Given the description of an element on the screen output the (x, y) to click on. 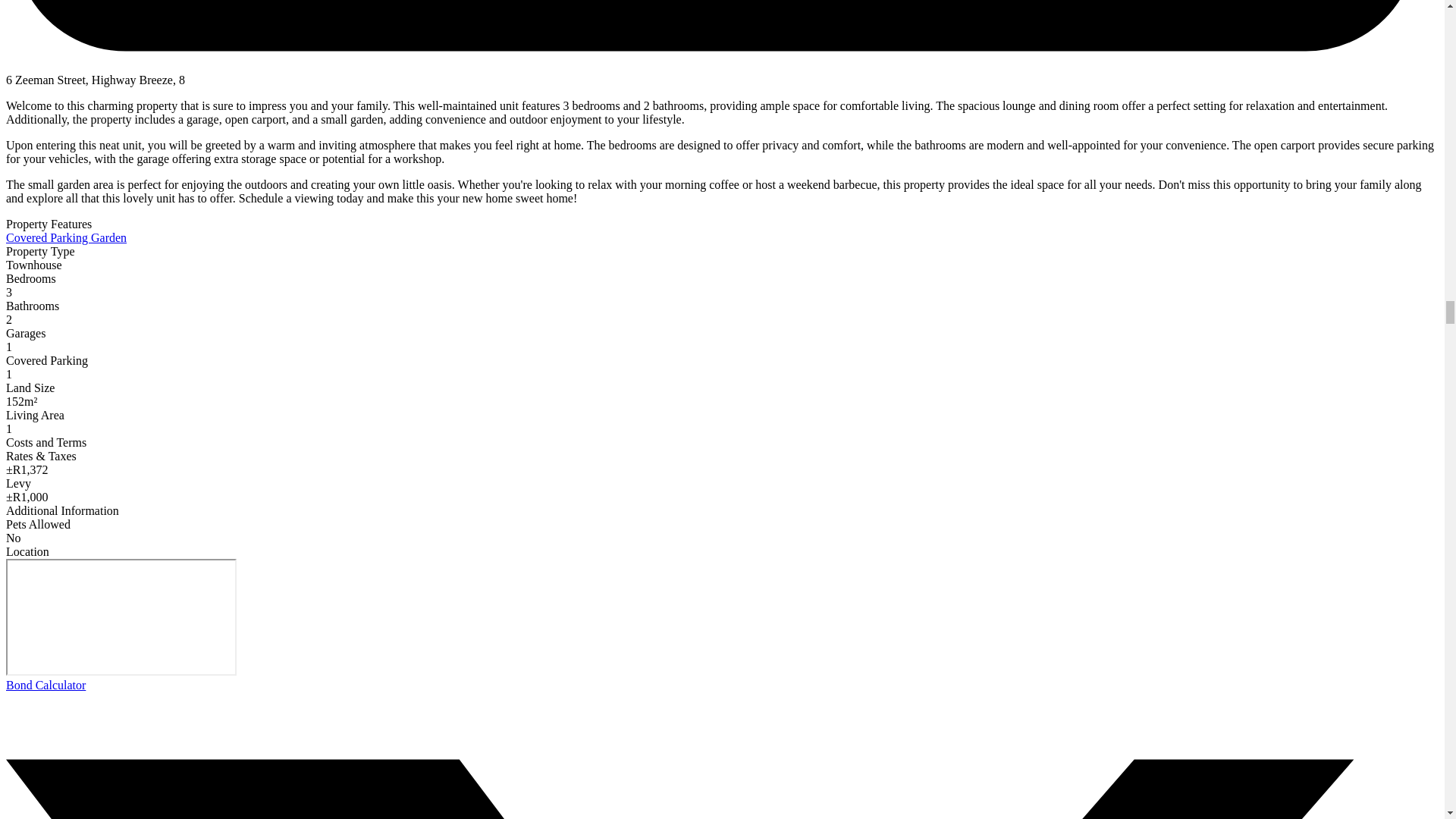
Bond Calculator (45, 684)
Covered Parking (47, 237)
Garden (108, 237)
